Given the description of an element on the screen output the (x, y) to click on. 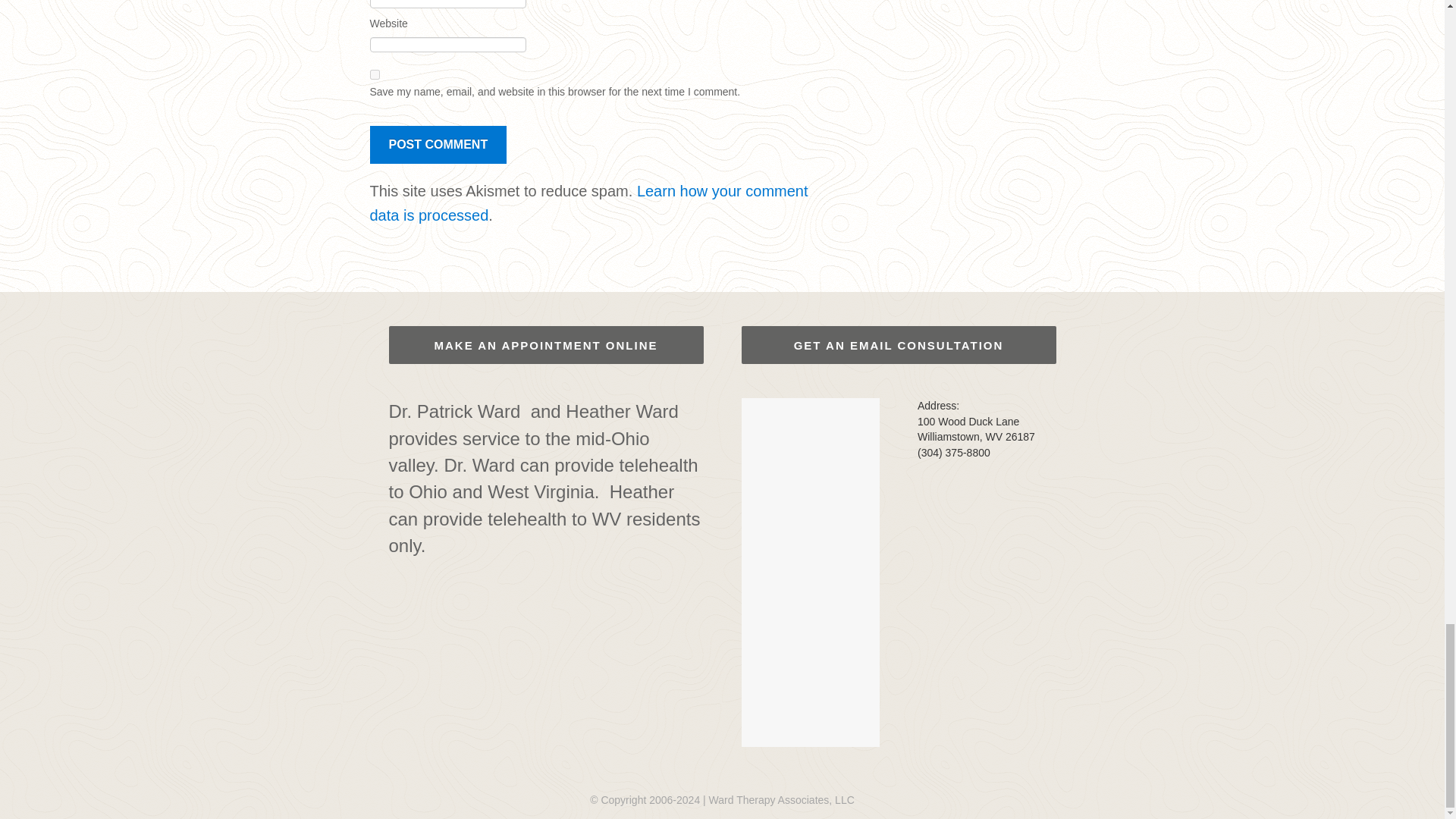
Get an Email Consultation (899, 344)
yes (374, 74)
Make an Appointment Online (545, 344)
Post Comment (437, 144)
